Given the description of an element on the screen output the (x, y) to click on. 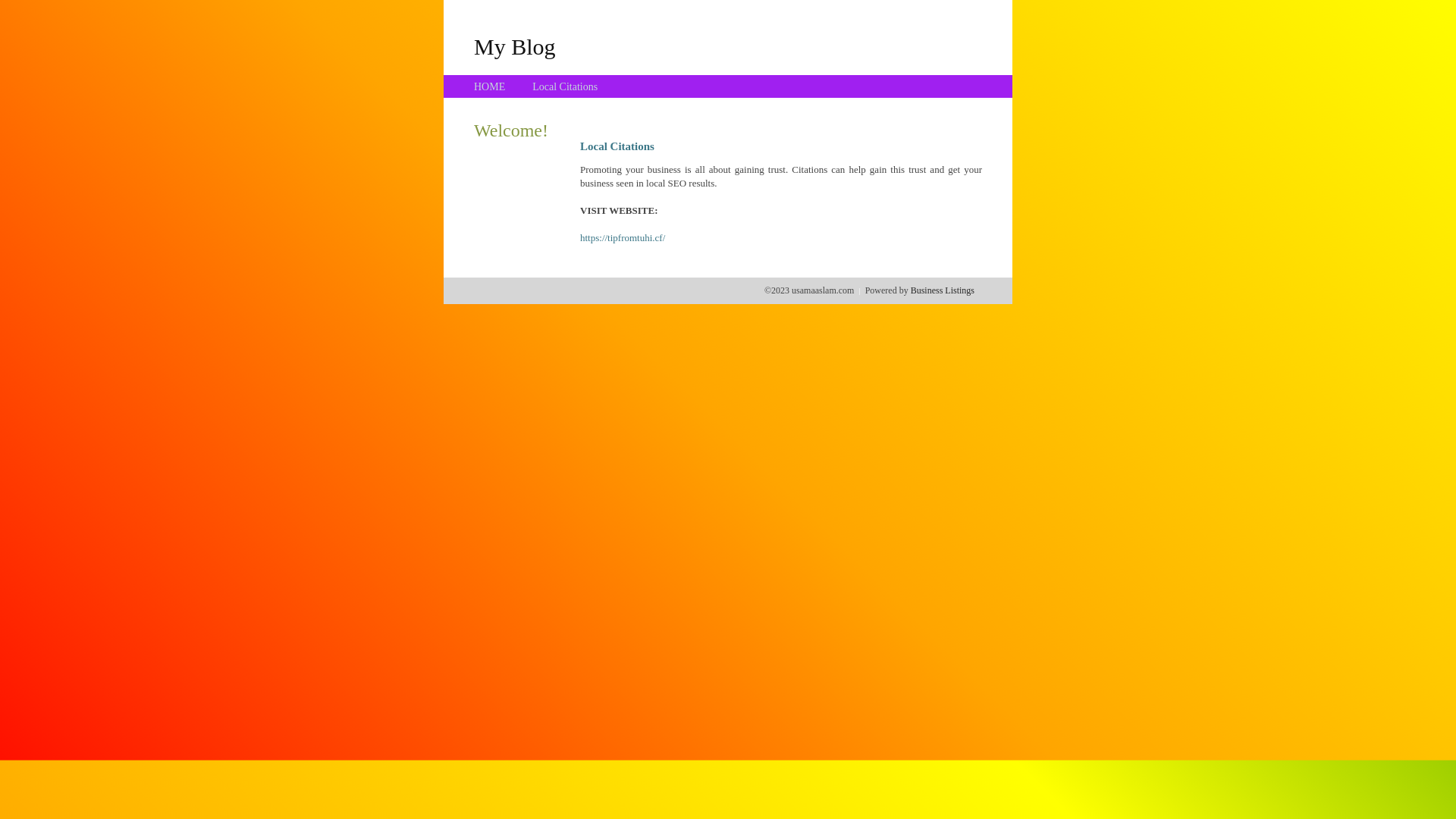
https://tipfromtuhi.cf/ Element type: text (622, 237)
My Blog Element type: text (514, 46)
Local Citations Element type: text (564, 86)
HOME Element type: text (489, 86)
Business Listings Element type: text (942, 290)
